Given the description of an element on the screen output the (x, y) to click on. 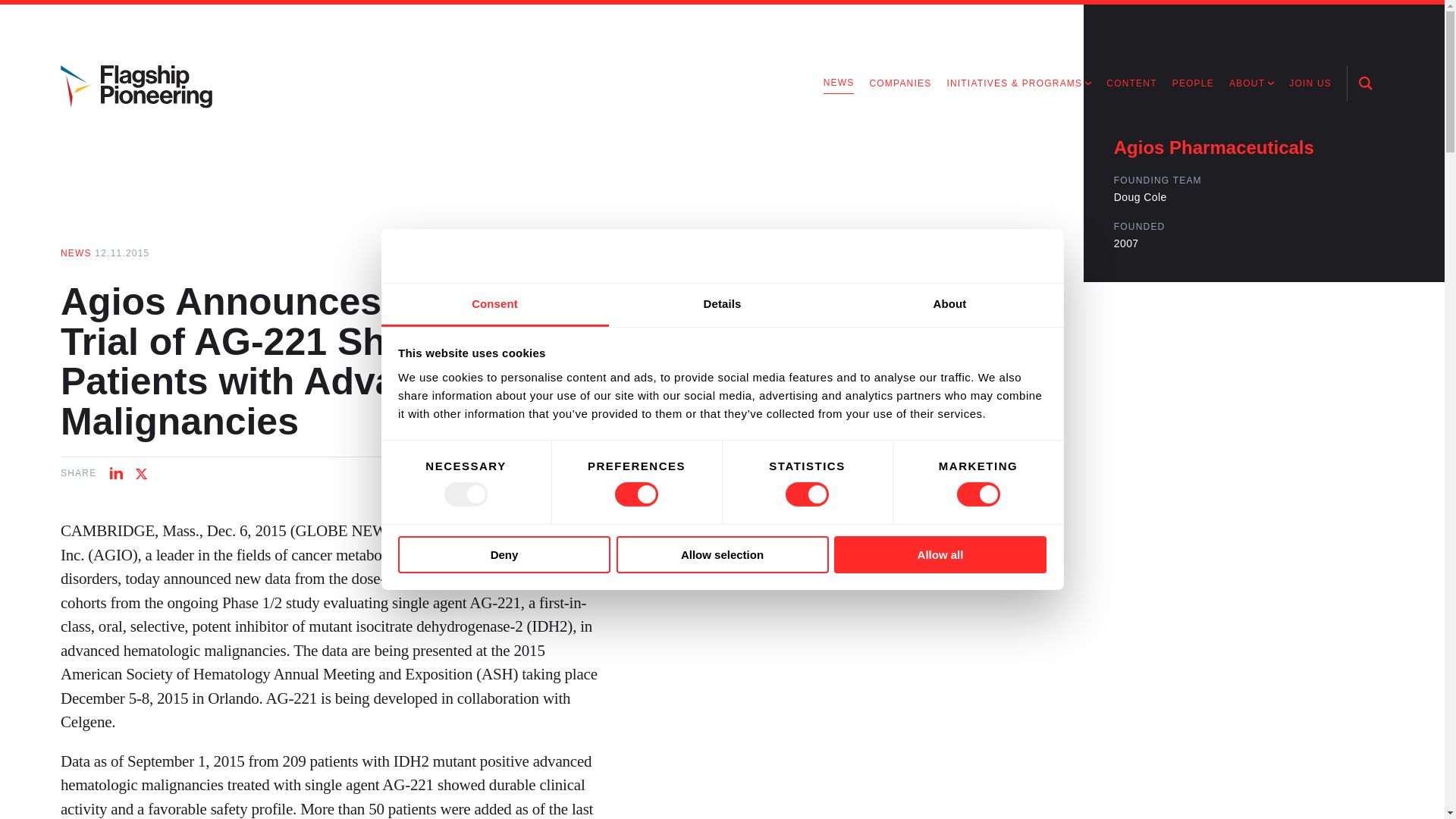
Details (721, 304)
Consent (494, 304)
About (948, 304)
